Given the description of an element on the screen output the (x, y) to click on. 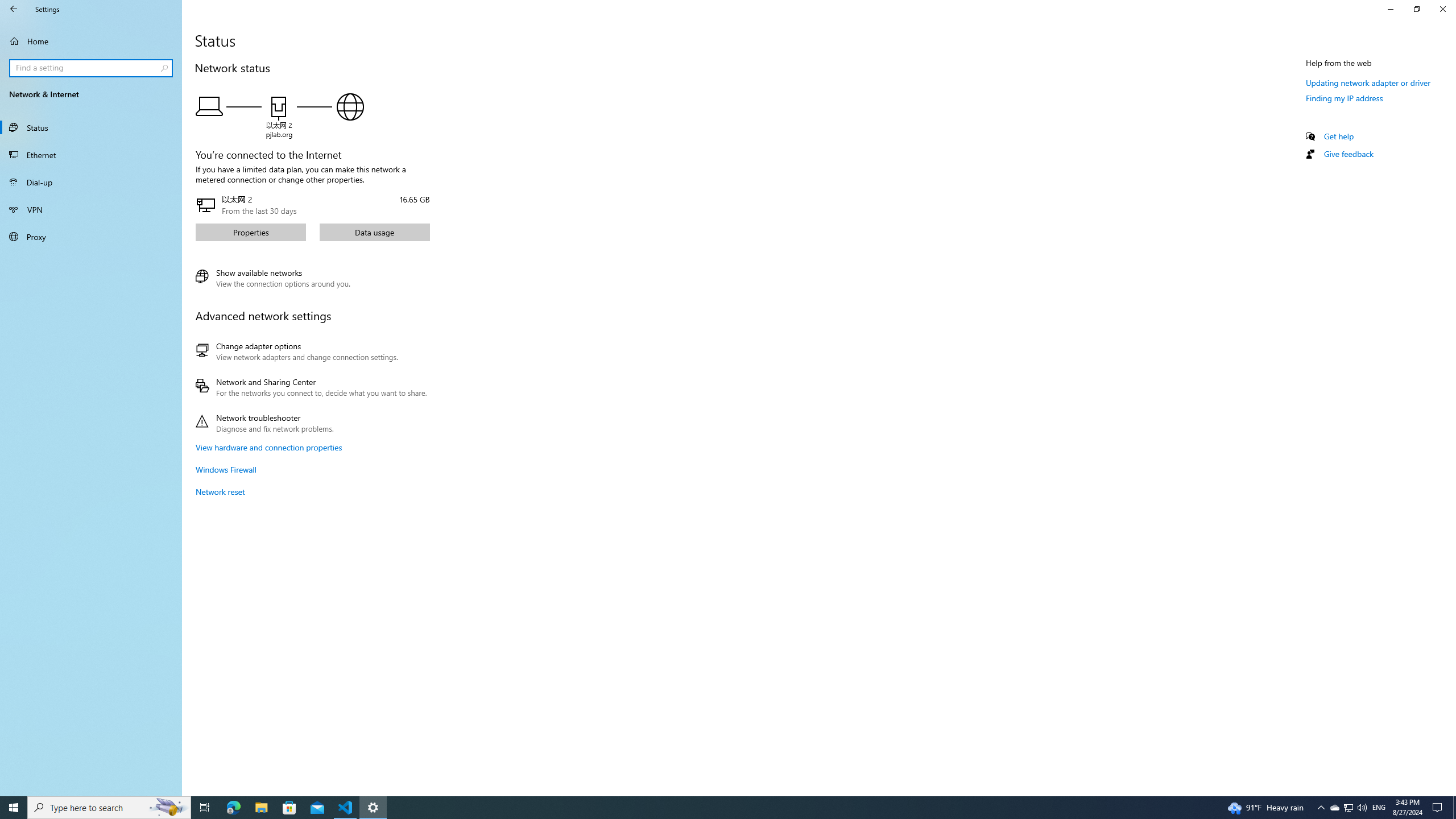
Ethernet (91, 154)
VPN (91, 208)
Network and Sharing Center (311, 387)
Finding my IP address (1344, 97)
Show available networks (272, 278)
Network troubleshooter (311, 423)
